Given the description of an element on the screen output the (x, y) to click on. 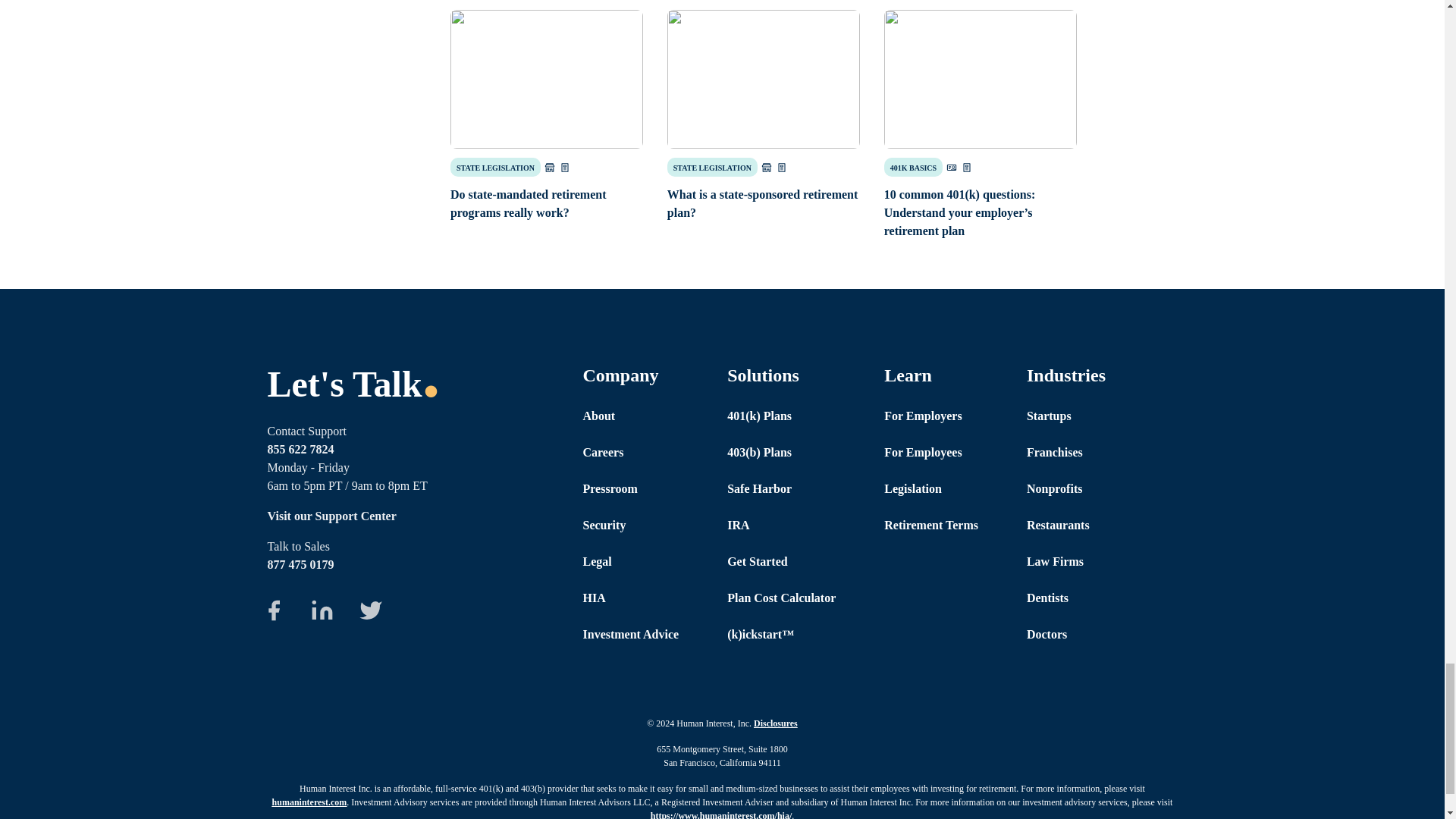
What is a state-sponsored retirement plan? (763, 78)
Do state-mandated retirement programs really work? (546, 78)
